Given the description of an element on the screen output the (x, y) to click on. 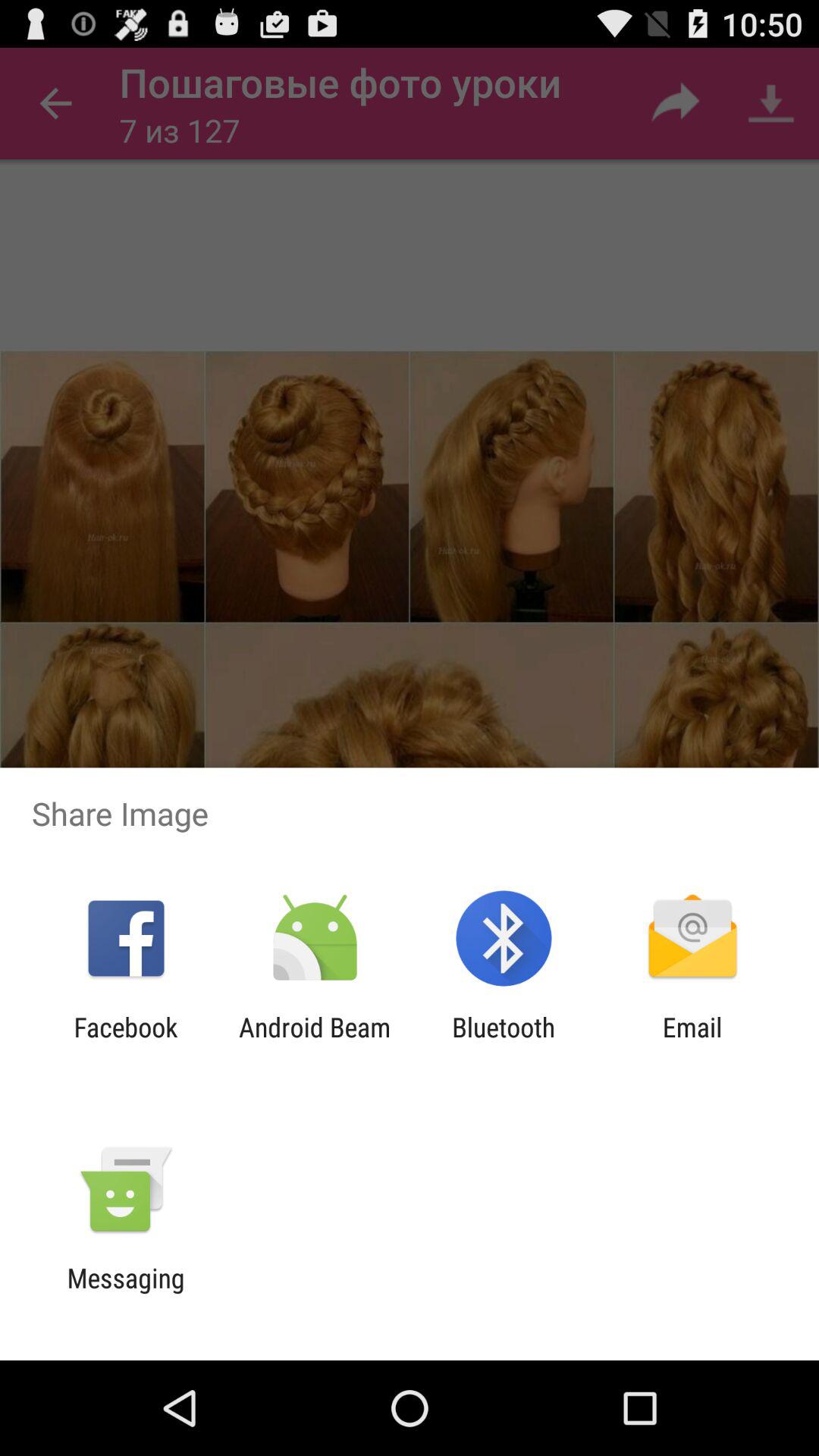
turn on item to the left of the bluetooth item (314, 1042)
